Given the description of an element on the screen output the (x, y) to click on. 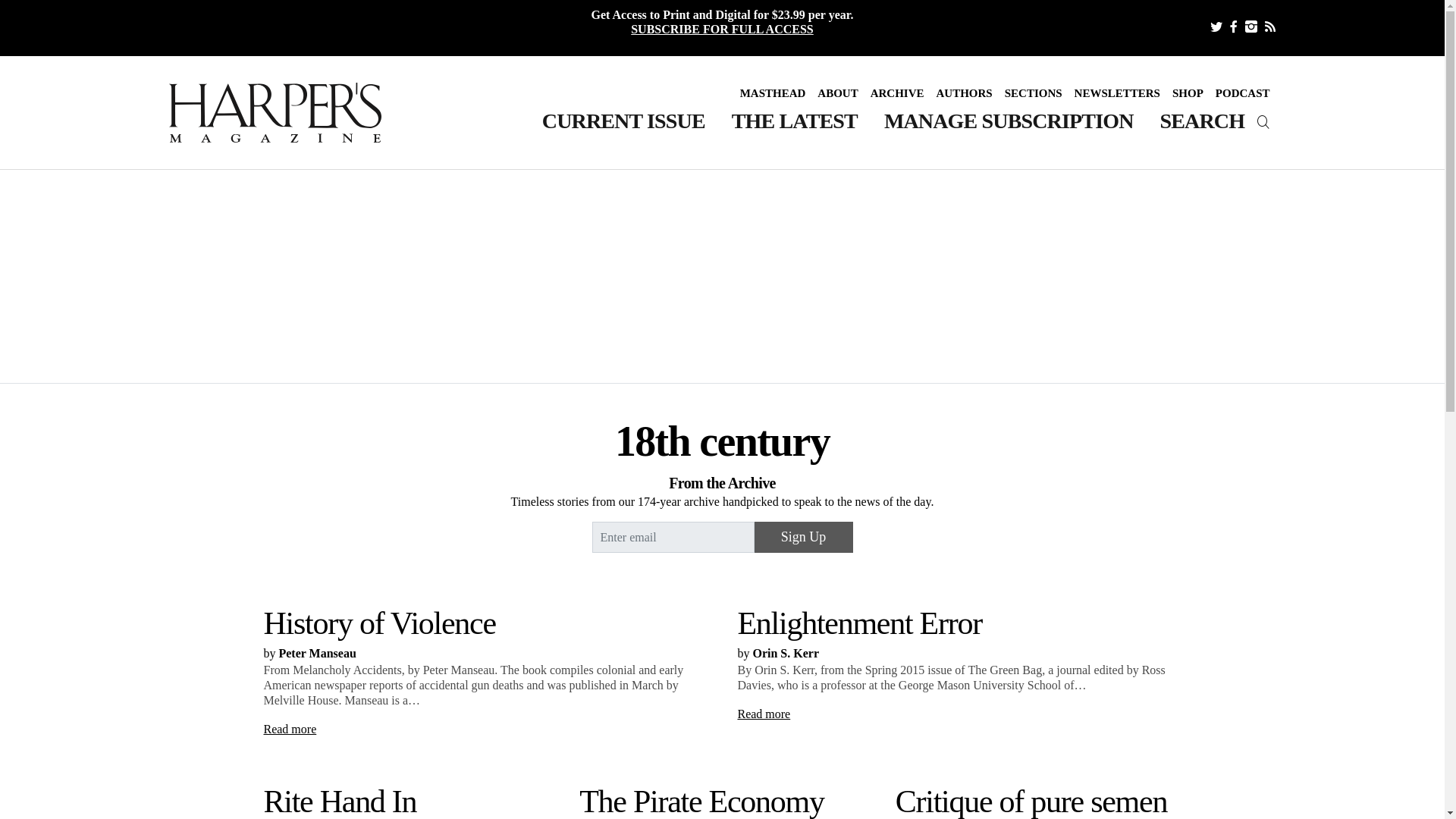
SHOP (1187, 93)
PODCAST (1242, 93)
MANAGE SUBSCRIPTION (1008, 120)
AUTHORS (964, 93)
SUBSCRIBE FOR FULL ACCESS (721, 29)
SEARCH (1218, 120)
NEWSLETTERS (1117, 93)
THE LATEST (794, 120)
ARCHIVE (897, 93)
ABOUT (836, 93)
